Given the description of an element on the screen output the (x, y) to click on. 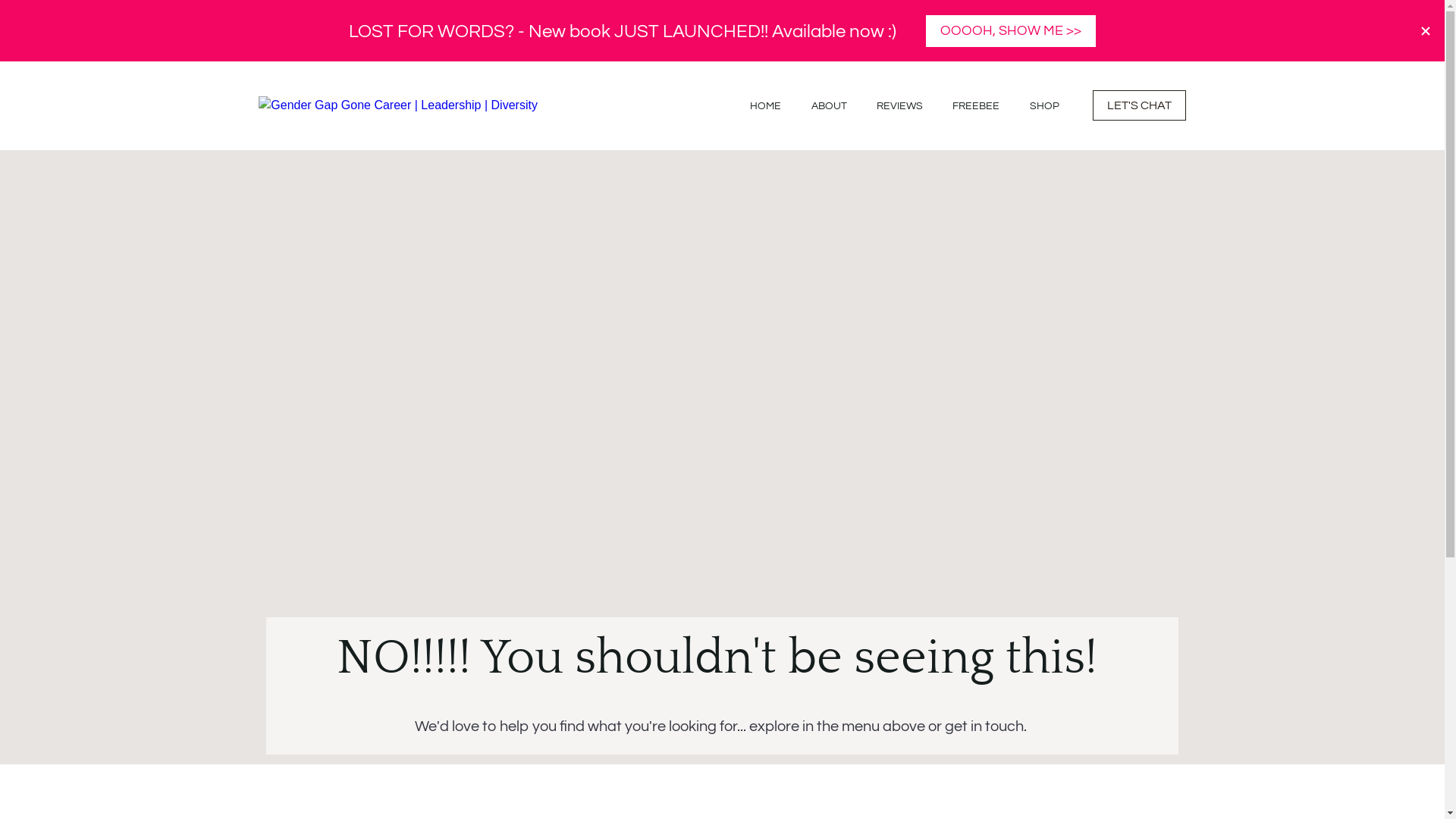
HOME Element type: text (765, 105)
REVIEWS Element type: text (899, 105)
FREEBEE Element type: text (975, 105)
SHOP Element type: text (1044, 105)
LET'S CHAT Element type: text (1139, 105)
ABOUT Element type: text (829, 105)
